Given the description of an element on the screen output the (x, y) to click on. 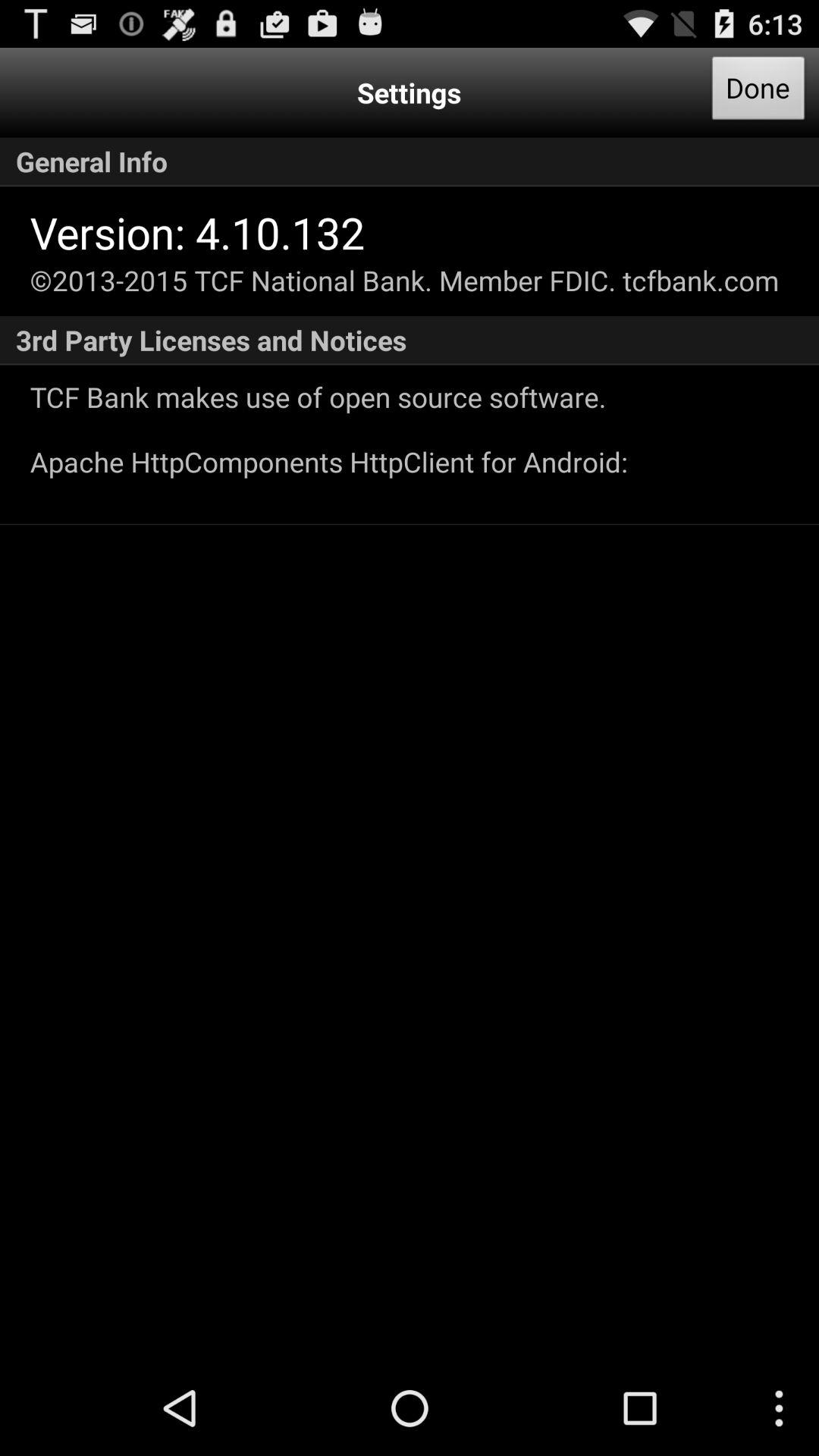
choose icon below general info icon (197, 232)
